Given the description of an element on the screen output the (x, y) to click on. 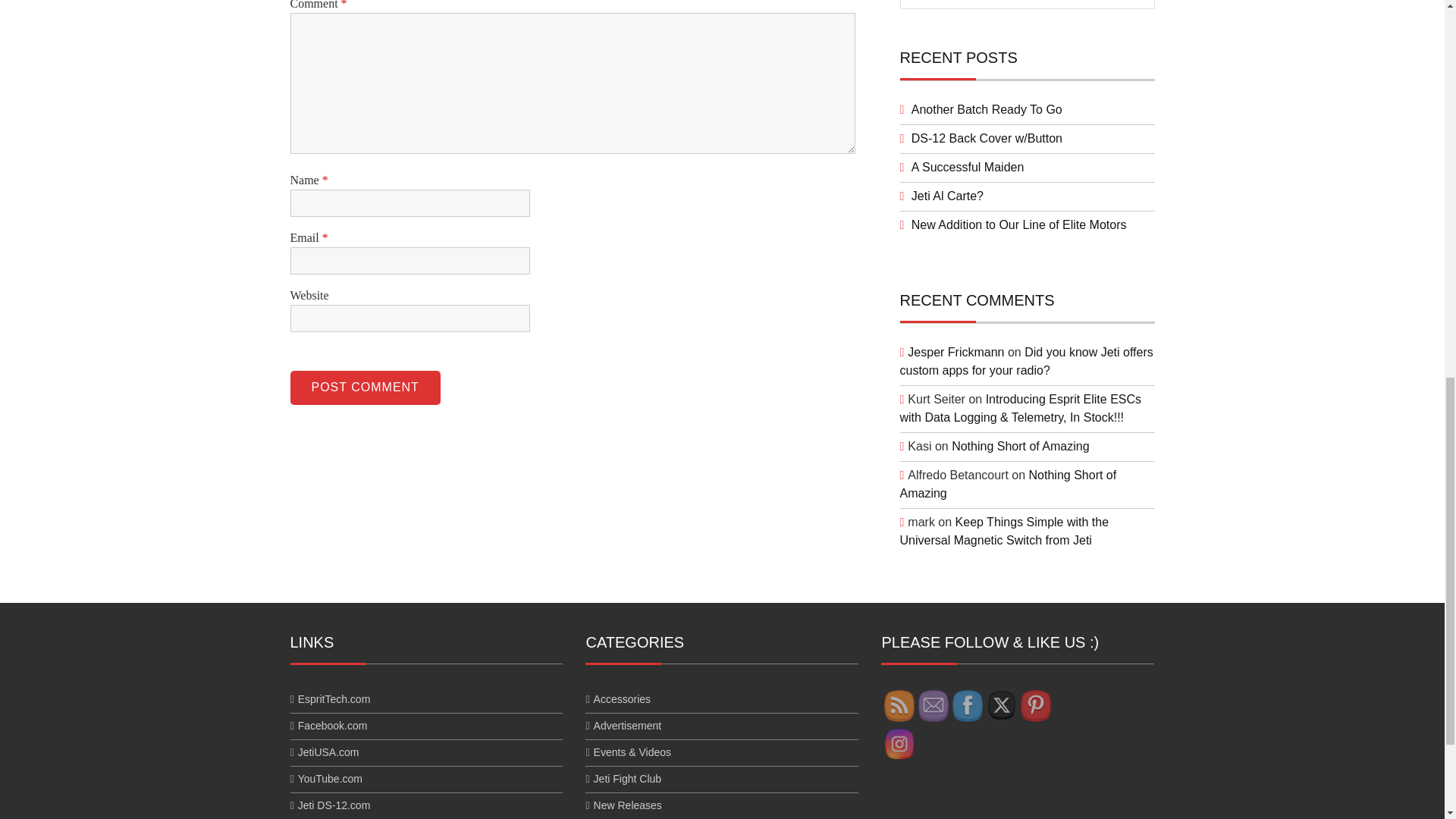
Post Comment (364, 387)
Post Comment (364, 387)
